Given the description of an element on the screen output the (x, y) to click on. 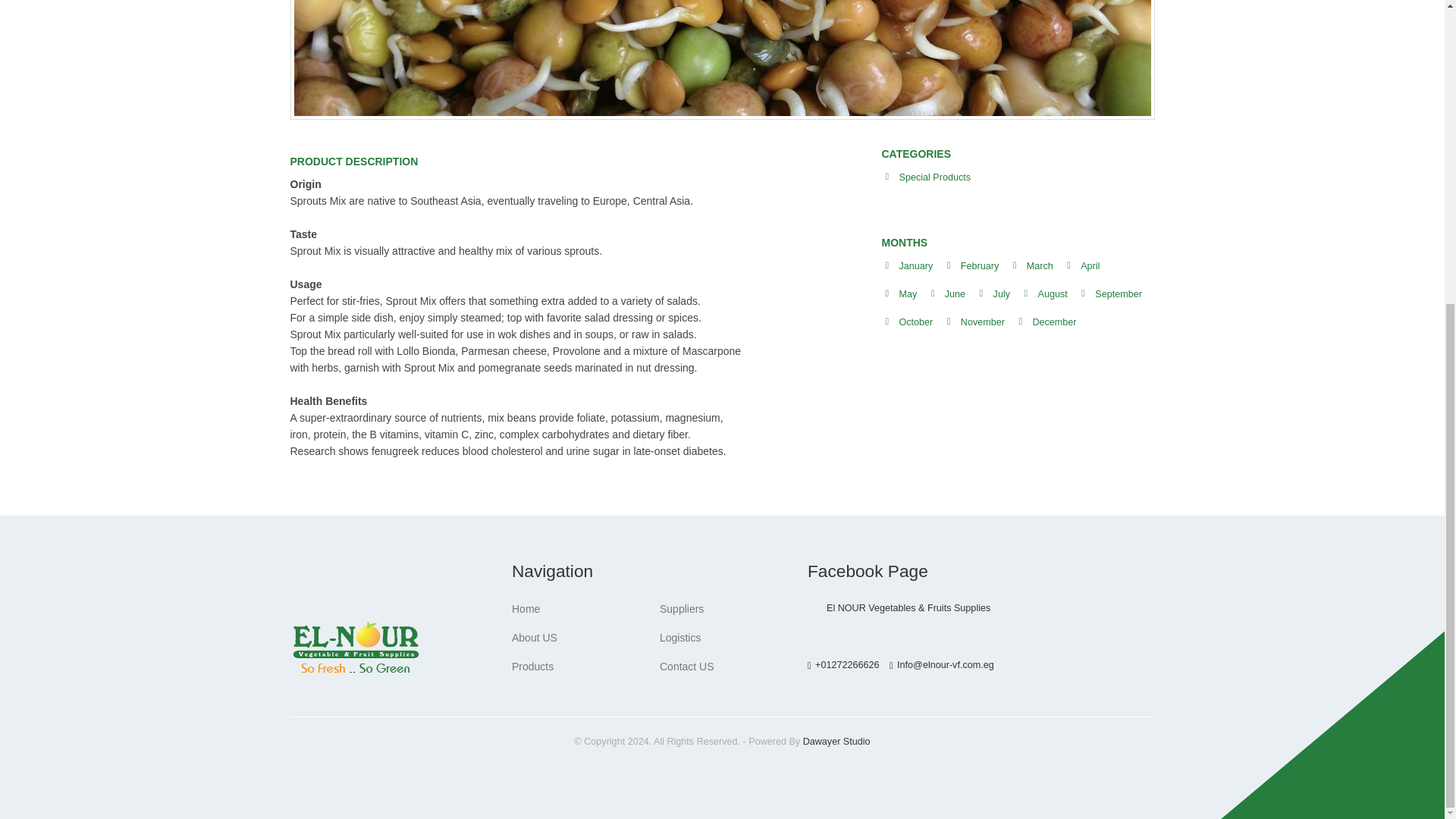
November (982, 321)
December (1053, 321)
Logistics (679, 637)
Products (532, 666)
Suppliers (681, 608)
Special Products (935, 176)
January (916, 266)
About US (534, 637)
February (979, 266)
May (908, 294)
September (1117, 294)
August (1052, 294)
July (1001, 294)
Contact US (686, 666)
June (954, 294)
